Given the description of an element on the screen output the (x, y) to click on. 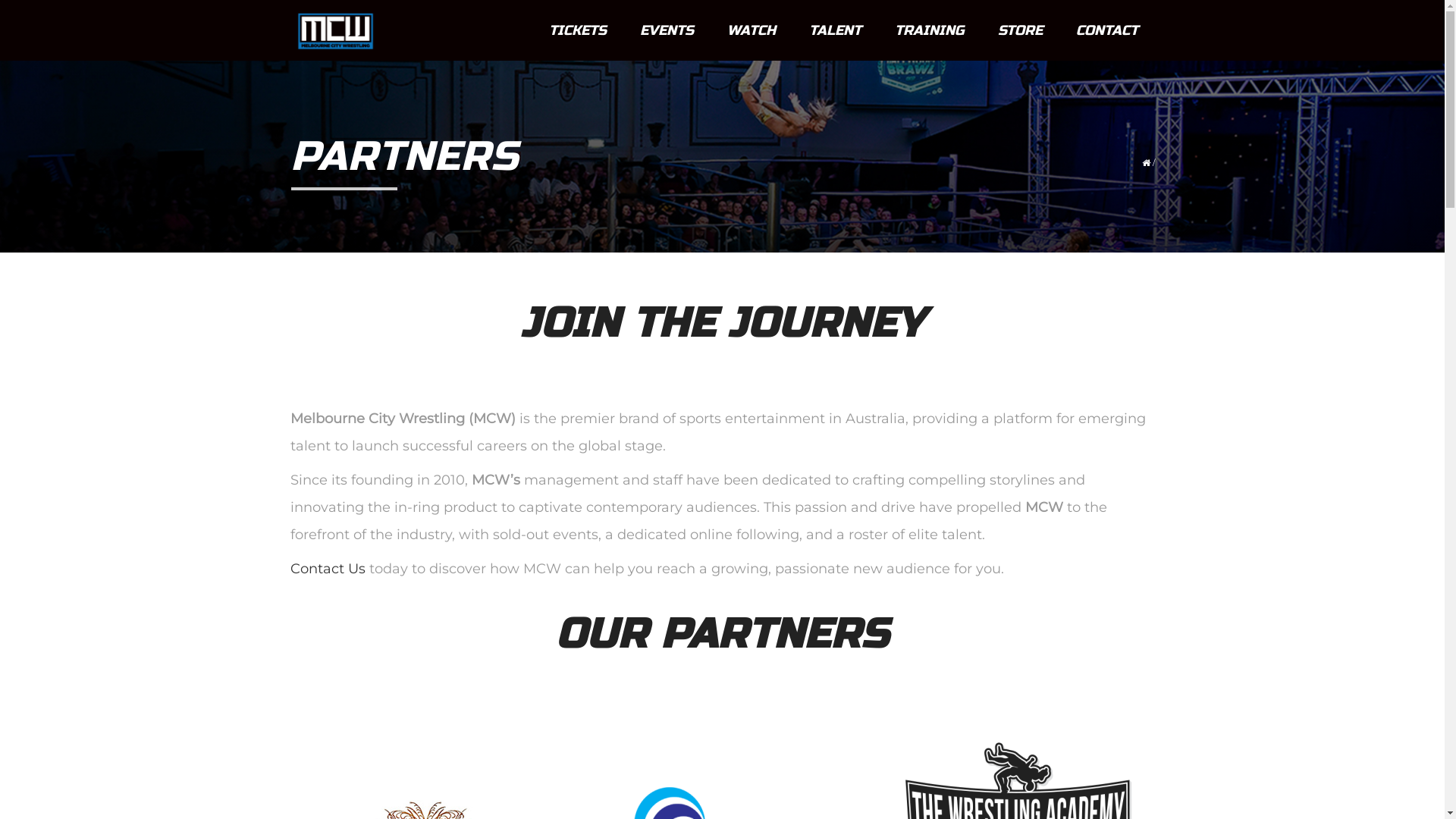
STORE Element type: text (1020, 30)
CONTACT Element type: text (1106, 30)
TICKETS Element type: text (577, 30)
Contact Us Element type: text (326, 568)
TALENT Element type: text (834, 30)
WATCH Element type: text (750, 30)
EVENTS Element type: text (666, 30)
Home Element type: hover (334, 30)
TRAINING Element type: text (929, 30)
